Given the description of an element on the screen output the (x, y) to click on. 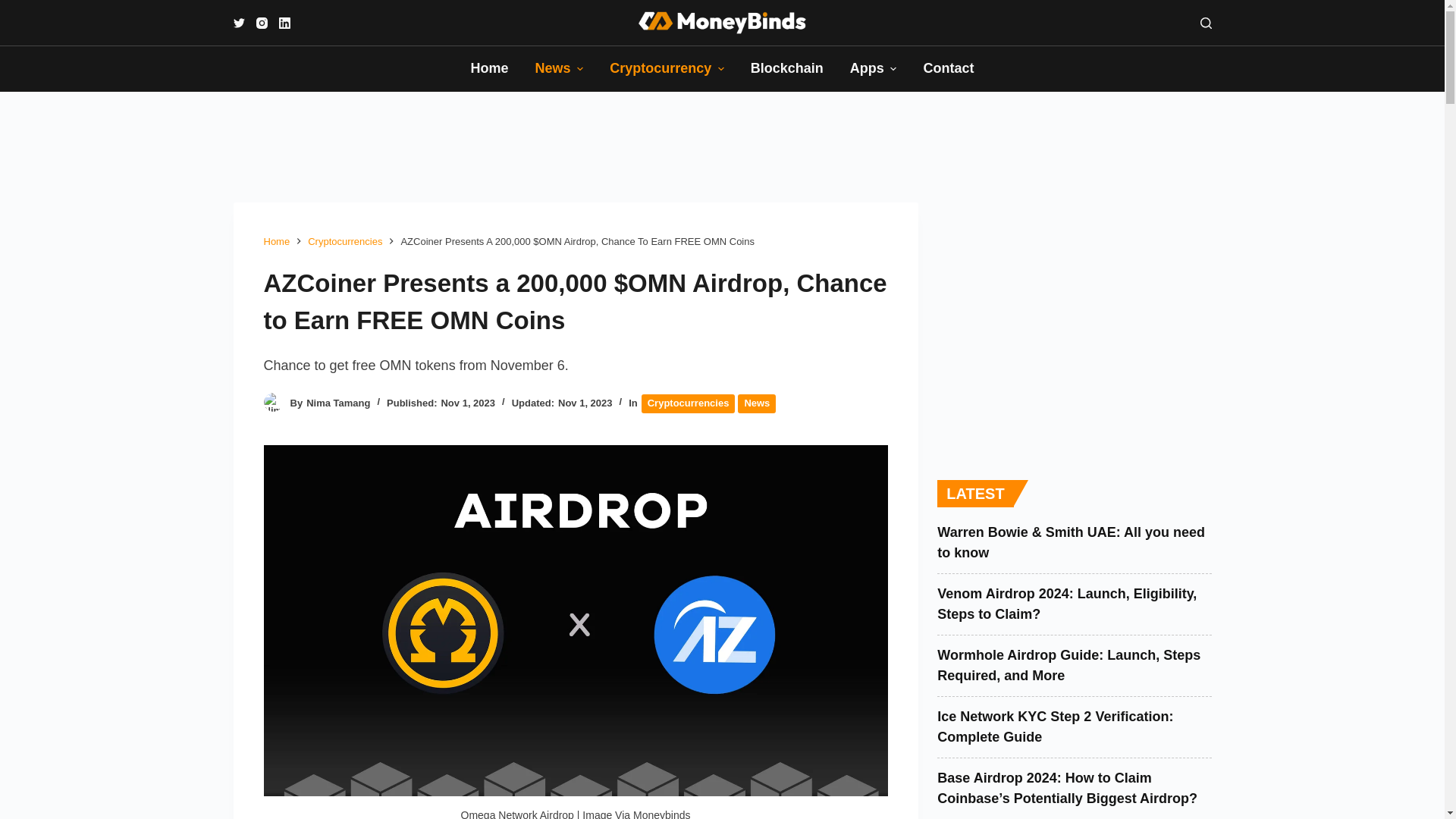
Skip to content (15, 7)
News (558, 68)
Home (489, 68)
Posts by Nima Tamang (337, 402)
Cryptocurrency (667, 68)
